Given the description of an element on the screen output the (x, y) to click on. 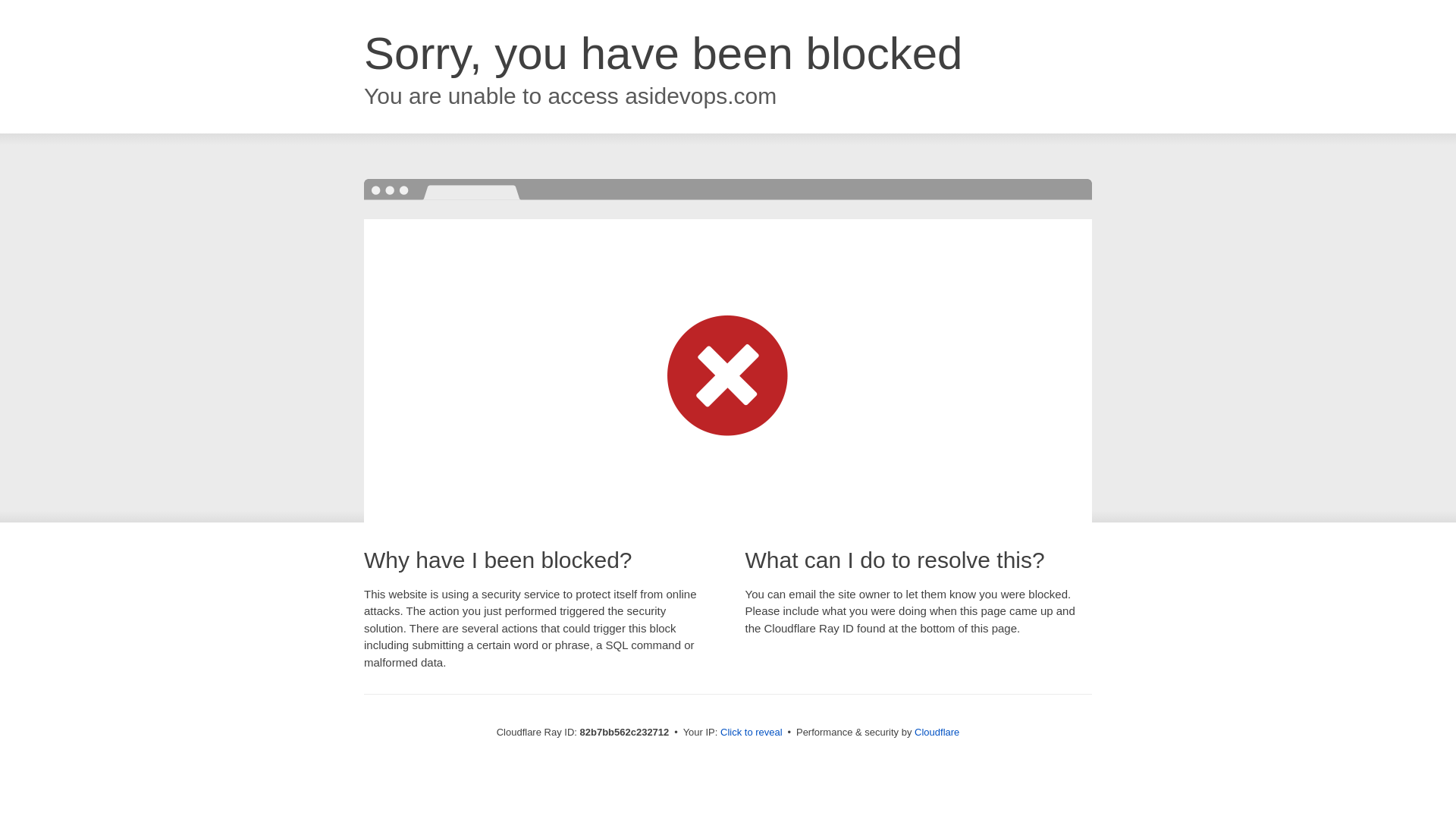
Click to reveal Element type: text (751, 732)
Cloudflare Element type: text (936, 731)
